Given the description of an element on the screen output the (x, y) to click on. 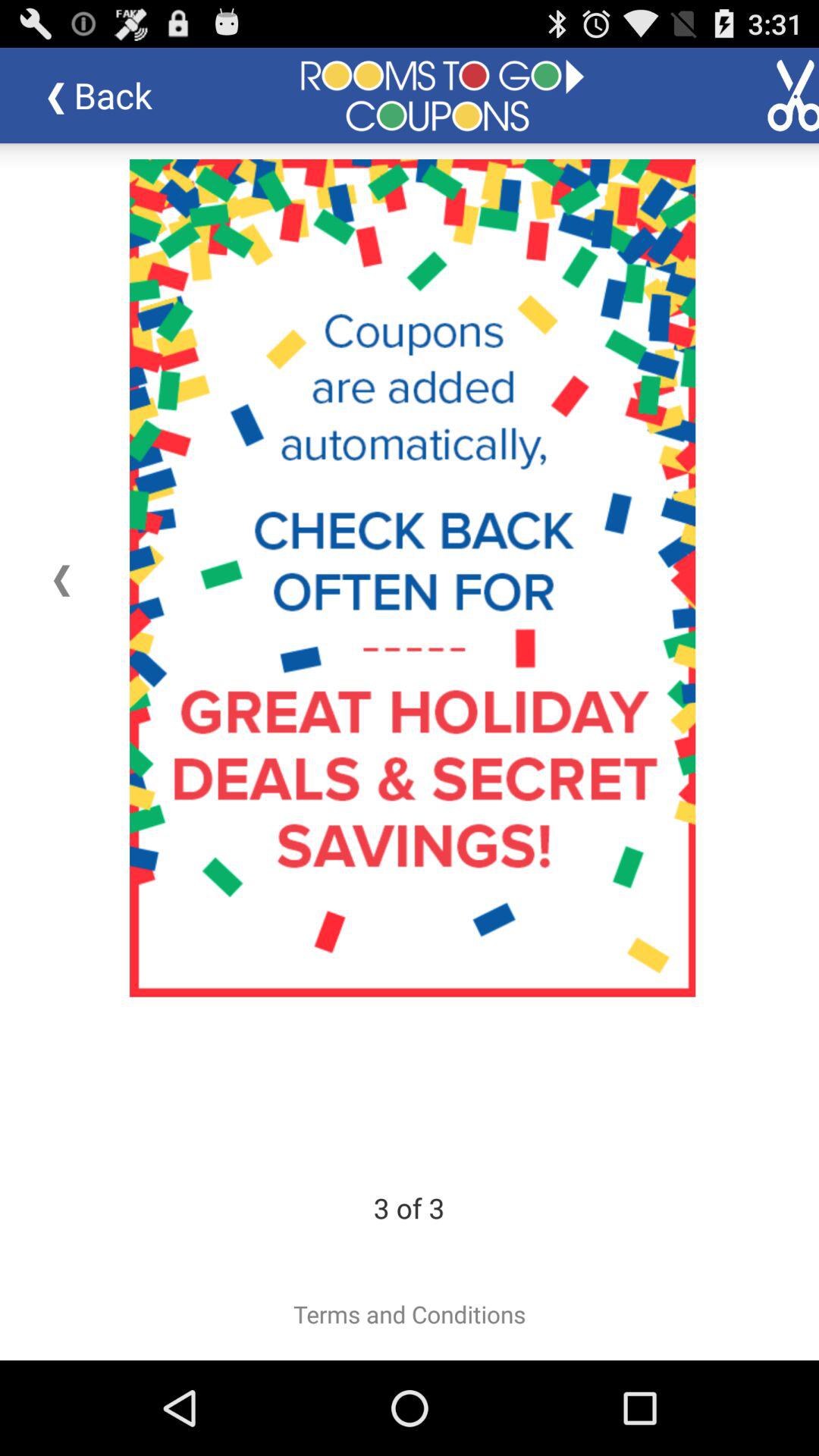
tap the item at the top left corner (110, 95)
